Given the description of an element on the screen output the (x, y) to click on. 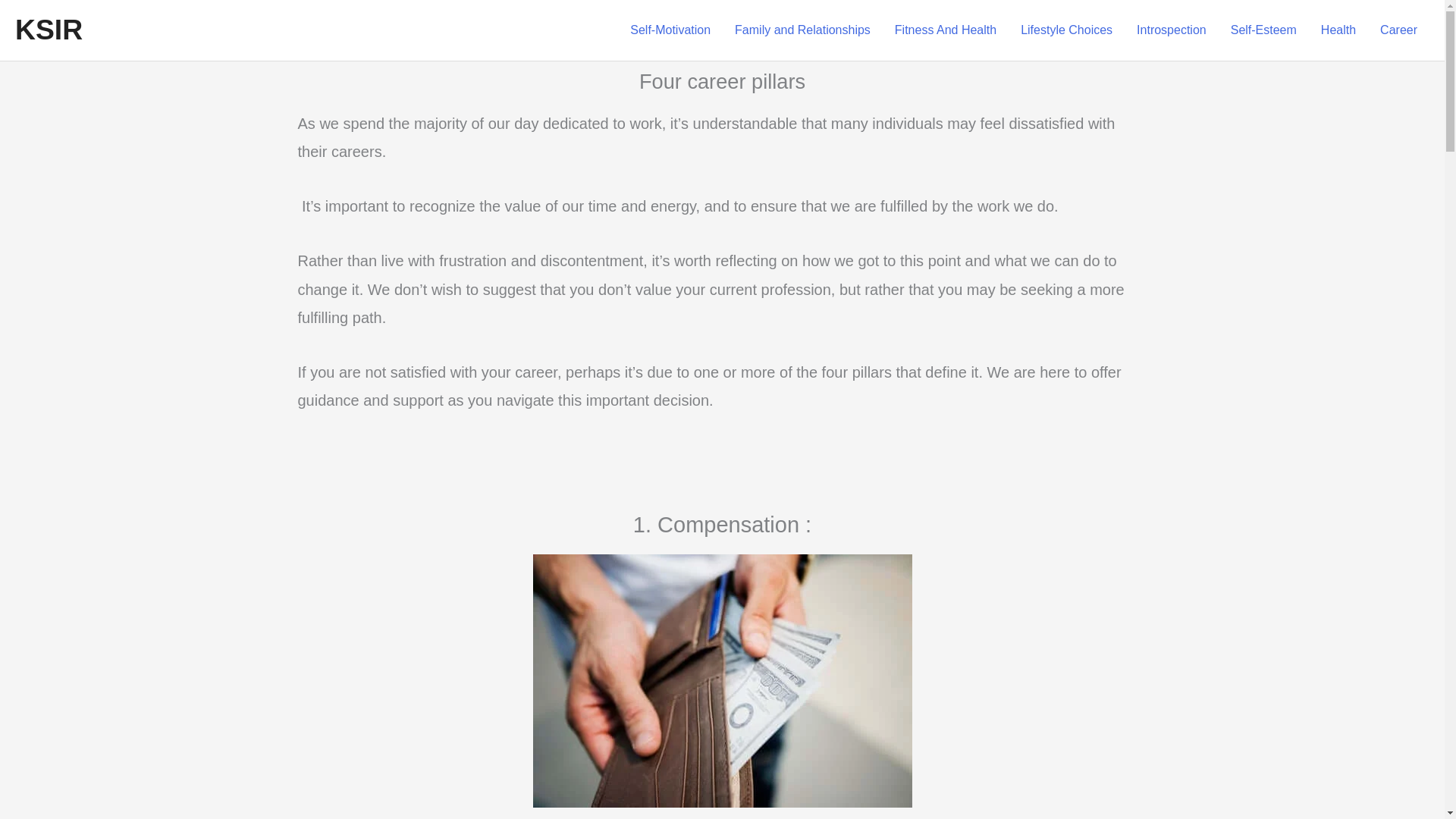
Career (1398, 30)
Family and Relationships (802, 30)
Self-Motivation (669, 30)
Health (1338, 30)
Lifestyle Choices (1066, 30)
KSIR (48, 29)
Introspection (1171, 30)
Fitness And Health (945, 30)
Self-Esteem (1263, 30)
